Given the description of an element on the screen output the (x, y) to click on. 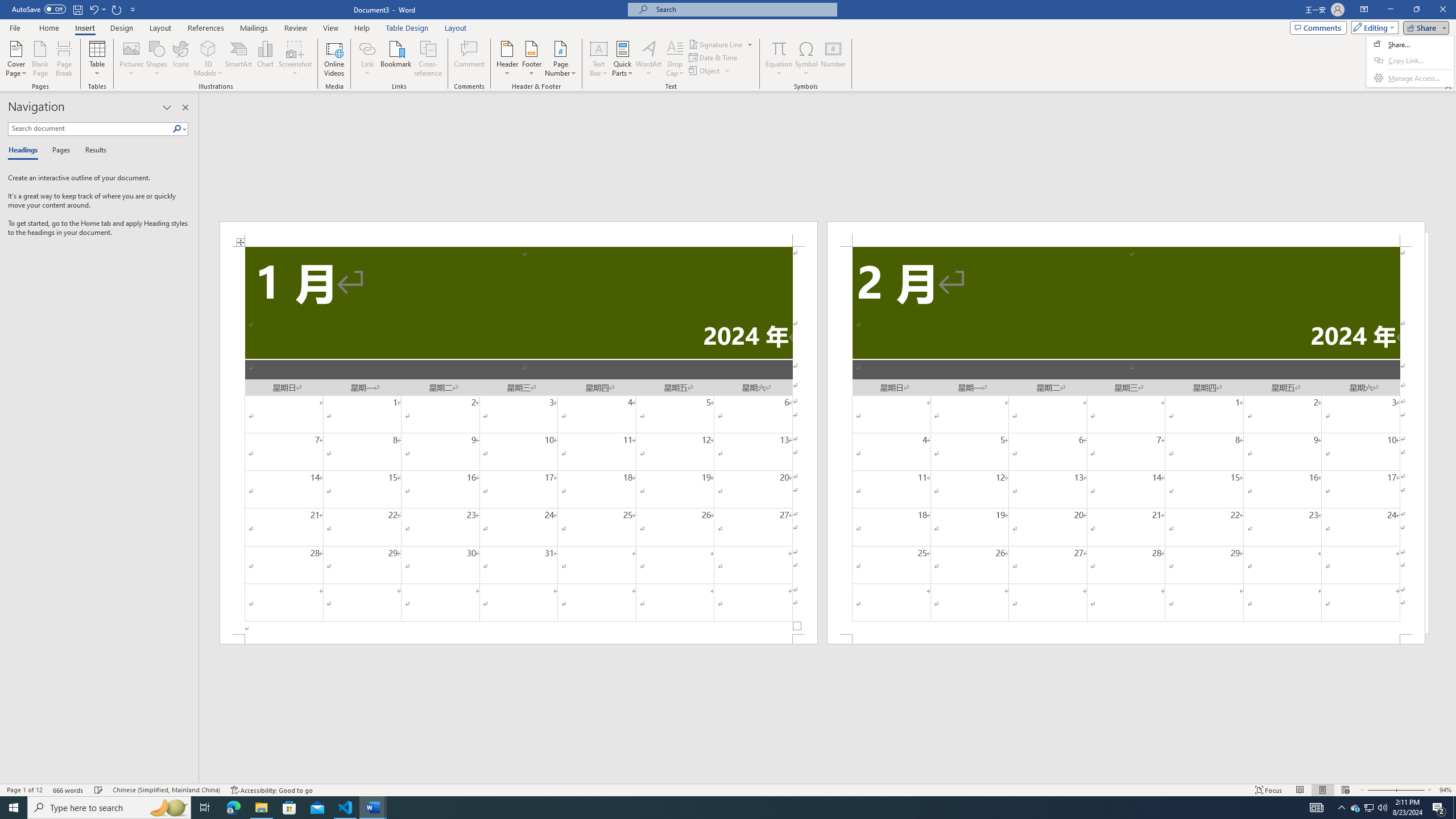
Signature Line (716, 44)
